Given the description of an element on the screen output the (x, y) to click on. 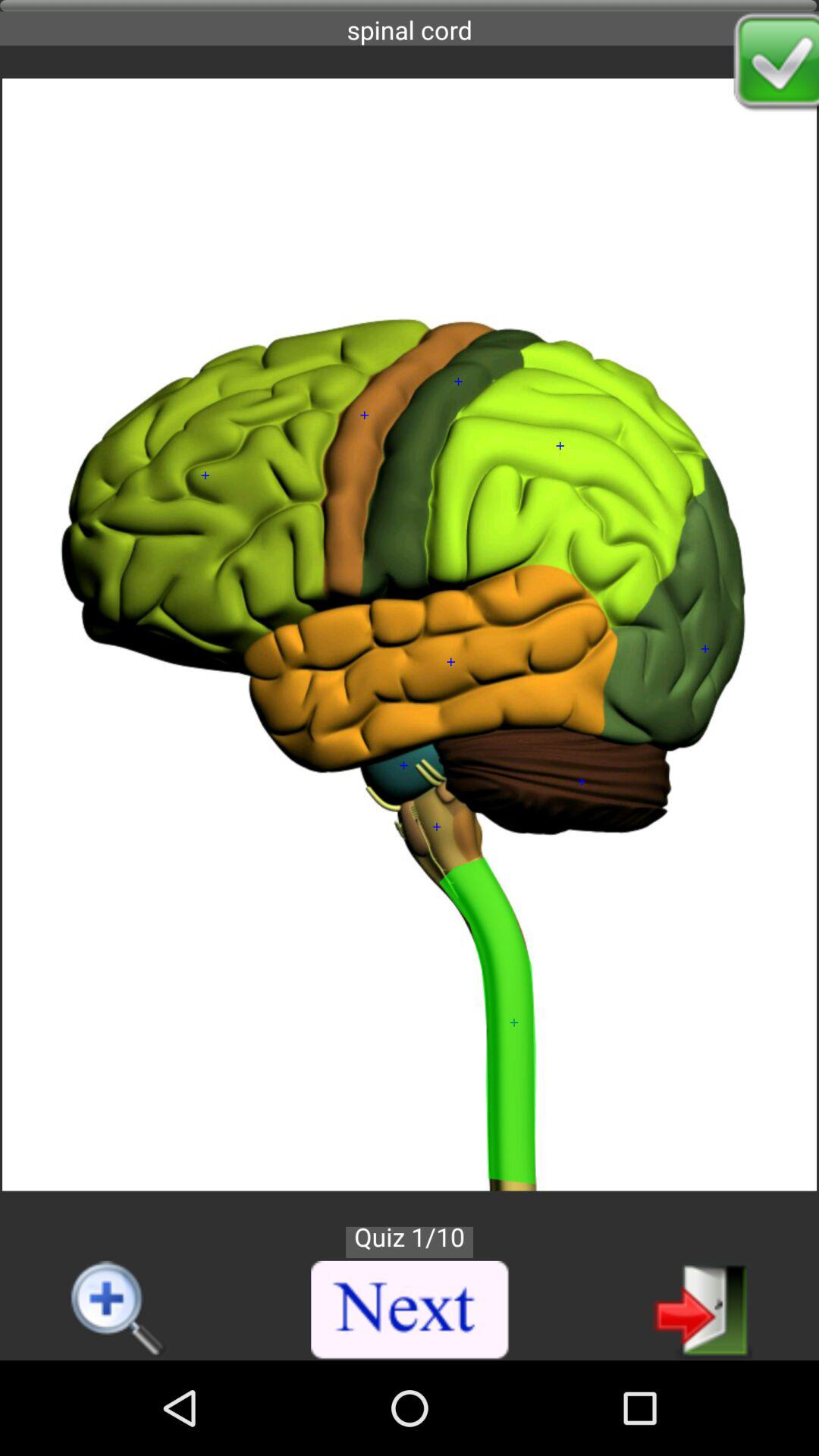
turn off item at the bottom right corner (702, 1309)
